Given the description of an element on the screen output the (x, y) to click on. 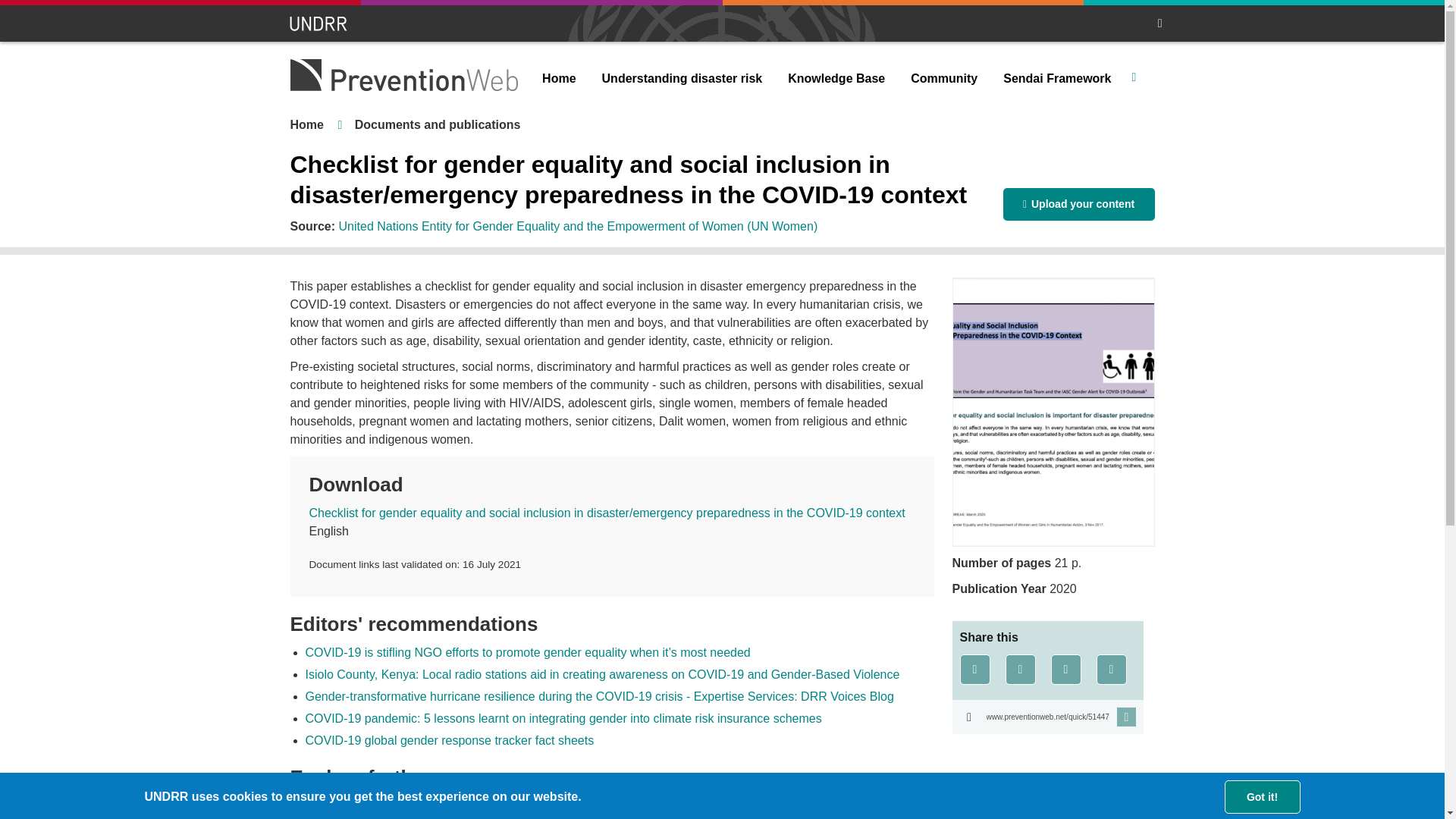
Share on LinkedIn (1066, 669)
Upload your content (1078, 204)
COVID-19 global gender response tracker fact sheets (449, 739)
Understanding disaster risk (682, 78)
UNDRR Homepage (319, 23)
Share on Twitter (1020, 669)
Home (558, 78)
Copy to Clipboard (1047, 716)
Share via Email (1111, 669)
PreventionWeb Logo (402, 74)
Share on Facebook (974, 669)
Documents and publications (438, 124)
